Given the description of an element on the screen output the (x, y) to click on. 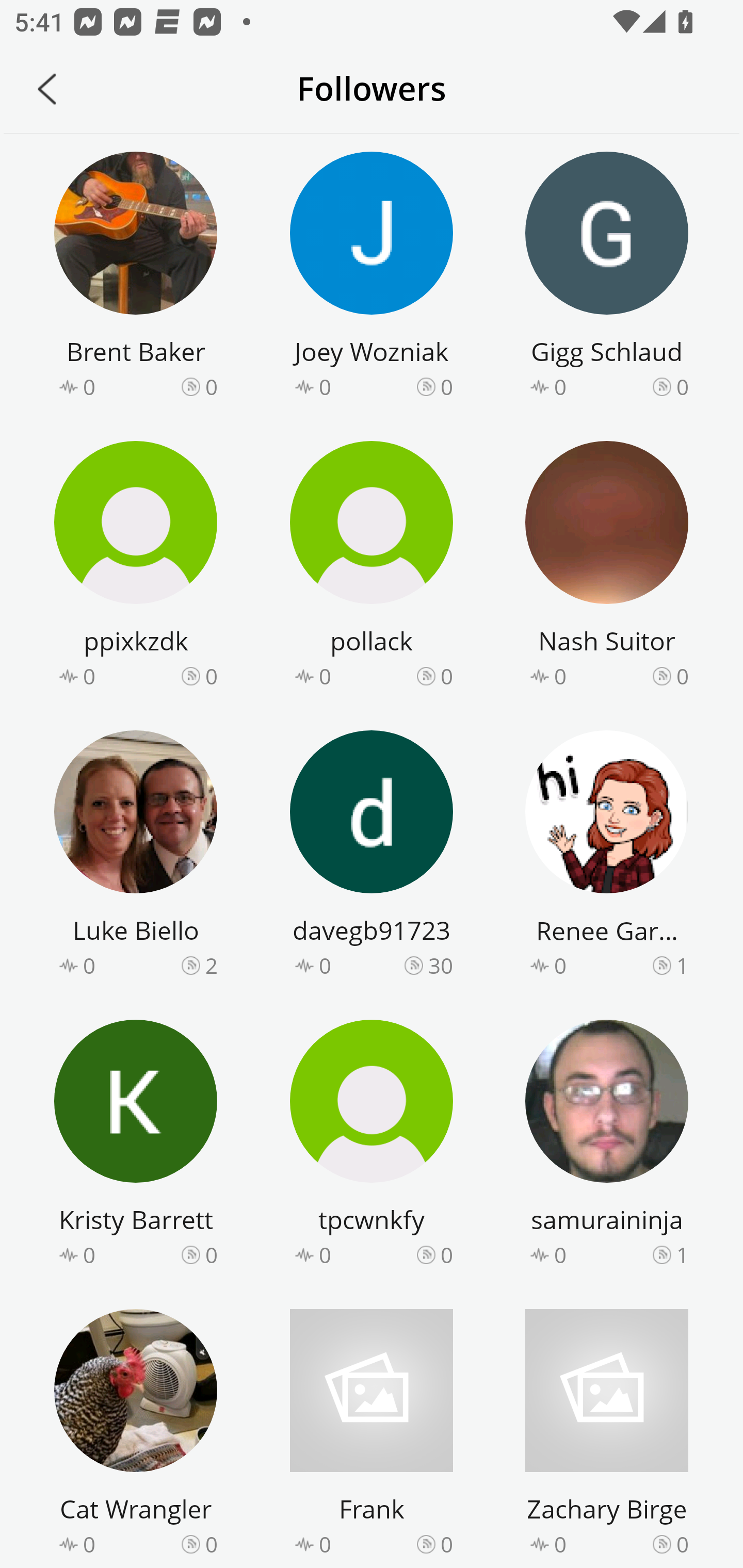
Back (46, 88)
Brent Baker 0 0 (135, 278)
Joey Wozniak 0 0 (371, 278)
Gigg Schlaud 0 0 (606, 278)
0 (211, 386)
0 (446, 386)
0 (682, 386)
ppixkzdk 0 0 (135, 567)
pollack 0 0 (371, 567)
Nash Suitor 0 0 (606, 567)
0 (211, 676)
0 (446, 676)
0 (682, 676)
Luke Biello 0 2 (135, 856)
davegb91723 0 30 (371, 856)
Renee Garmany 0 1 (606, 856)
2 (211, 965)
30 (440, 965)
1 (682, 965)
Kristy Barrett 0 0 (135, 1146)
tpcwnkfy 0 0 (371, 1146)
samuraininja 0 1 (606, 1146)
0 (211, 1255)
0 (446, 1255)
1 (682, 1255)
Cat Wrangler 0 0 (135, 1435)
Frank 0 0 (371, 1435)
Zachary Birge 0 0 (606, 1435)
0 (211, 1543)
0 (446, 1543)
0 (682, 1543)
